Given the description of an element on the screen output the (x, y) to click on. 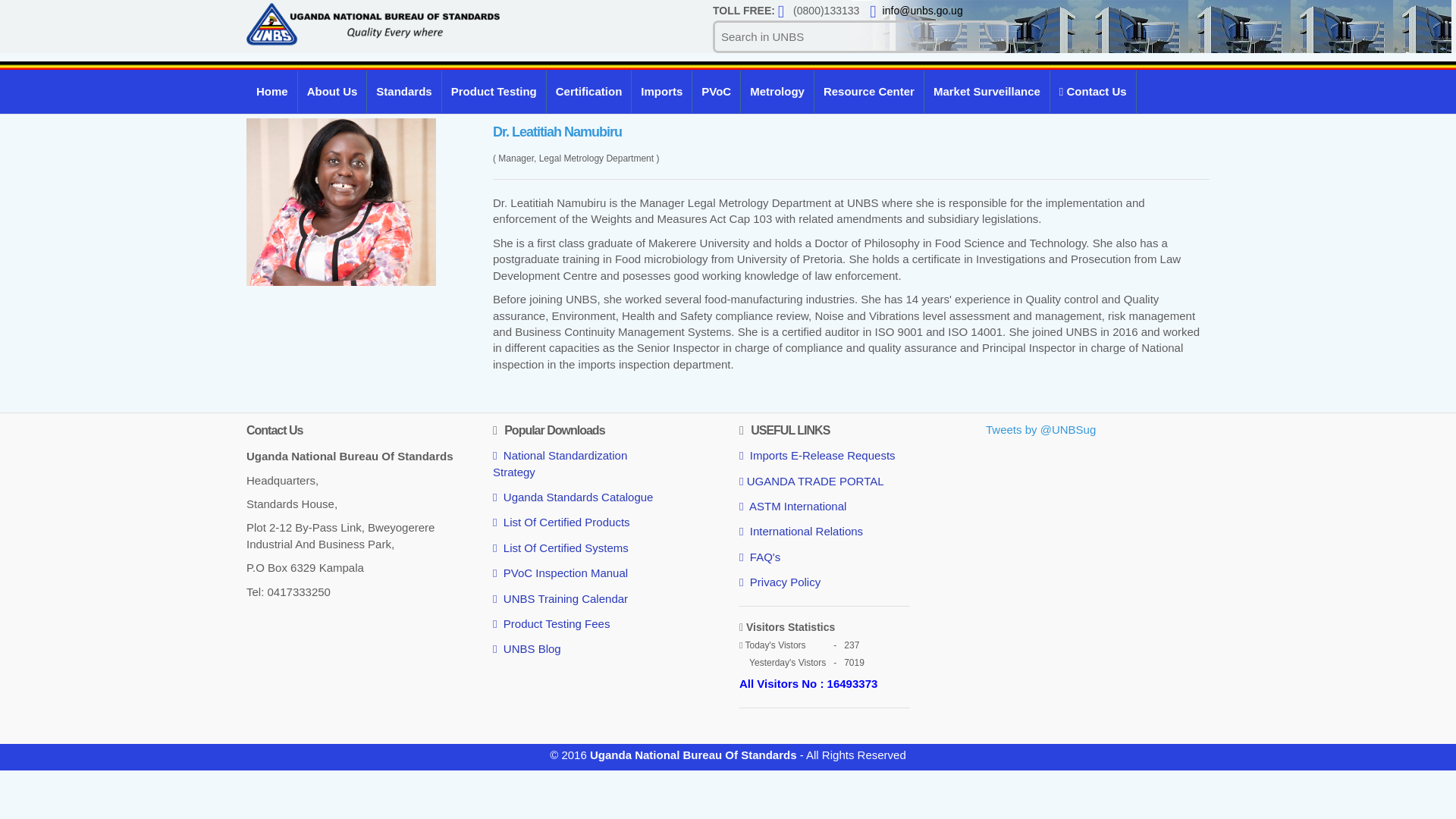
About Us (332, 91)
Product Testing (494, 91)
Home (272, 91)
Certification (589, 91)
Standards (403, 91)
